Given the description of an element on the screen output the (x, y) to click on. 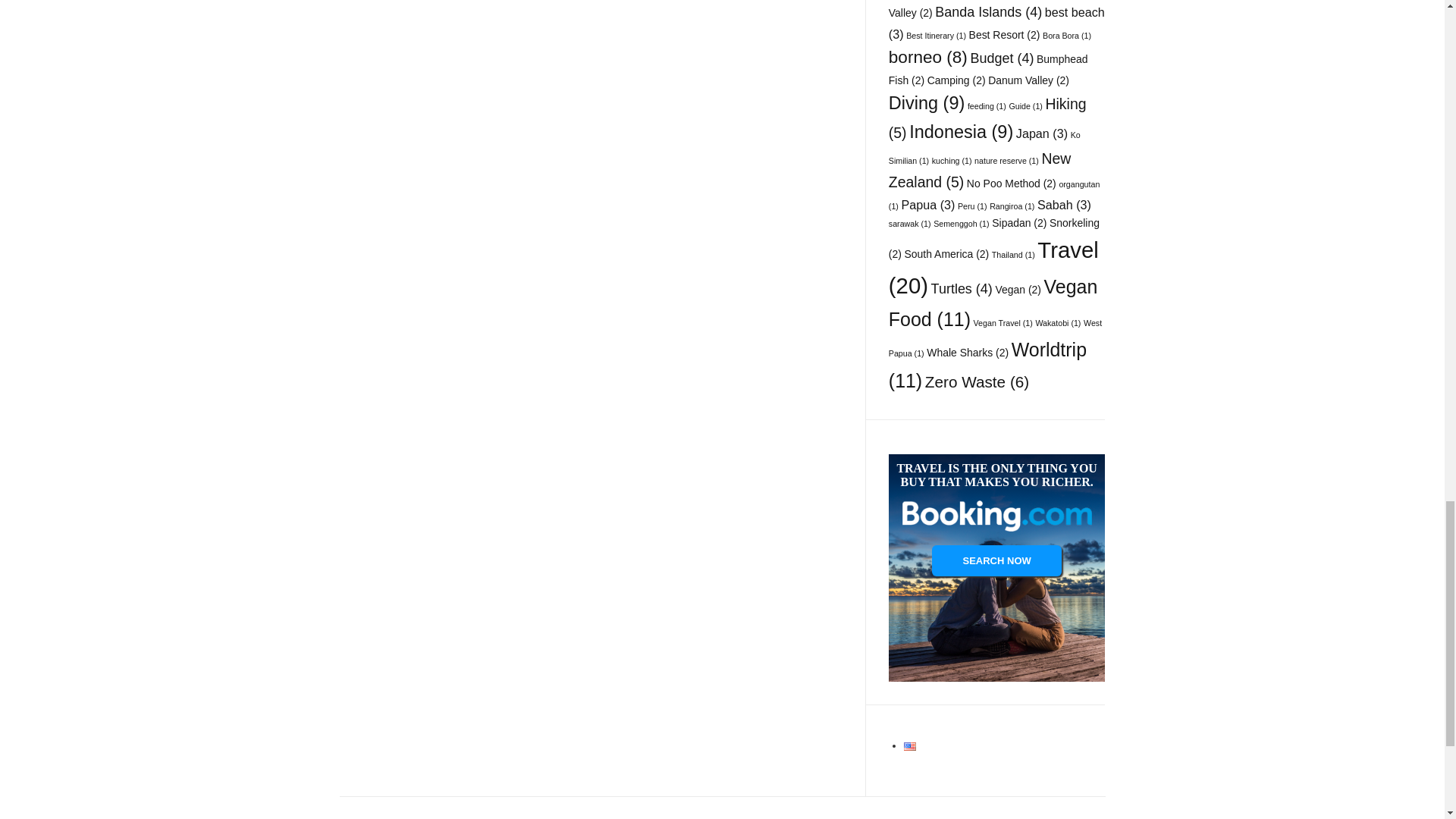
English (909, 746)
